Given the description of an element on the screen output the (x, y) to click on. 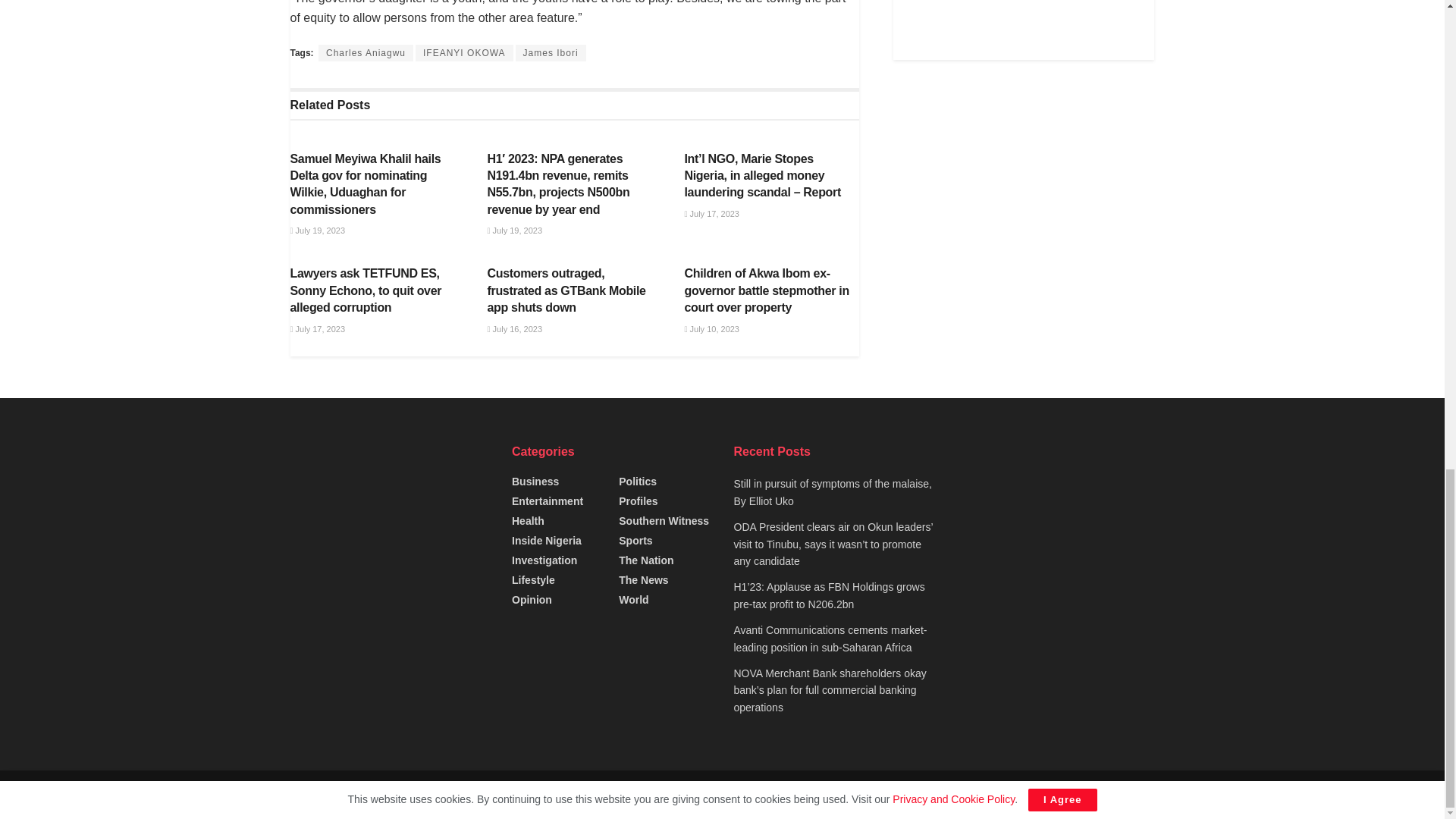
Charles Aniagwu (365, 53)
Advertisement (1023, 29)
IFEANYI OKOWA (463, 53)
July 19, 2023 (317, 230)
James Ibori (550, 53)
